Given the description of an element on the screen output the (x, y) to click on. 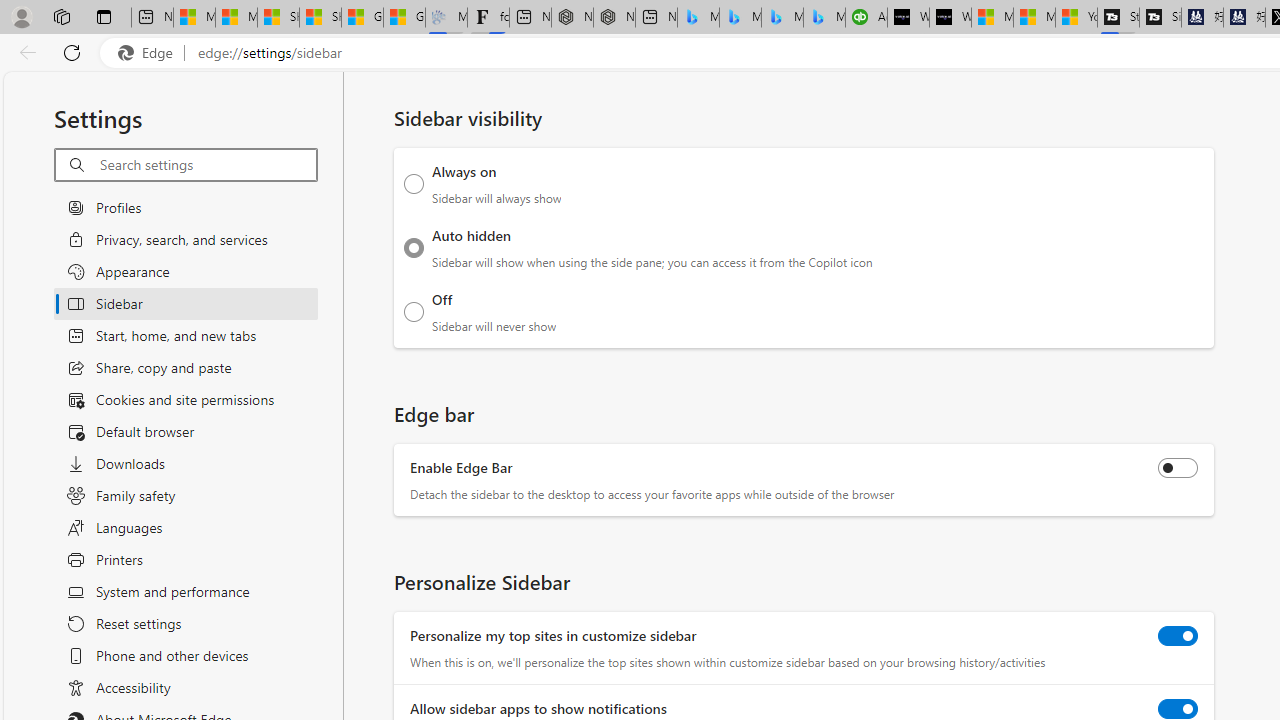
Enable Edge Bar (1178, 467)
Gilma and Hector both pose tropical trouble for Hawaii (404, 17)
Off Sidebar will never show (413, 311)
Allow sidebar apps to show notifications (1178, 709)
Accounting Software for Accountants, CPAs and Bookkeepers (866, 17)
Streaming Coverage | T3 (1118, 17)
